Given the description of an element on the screen output the (x, y) to click on. 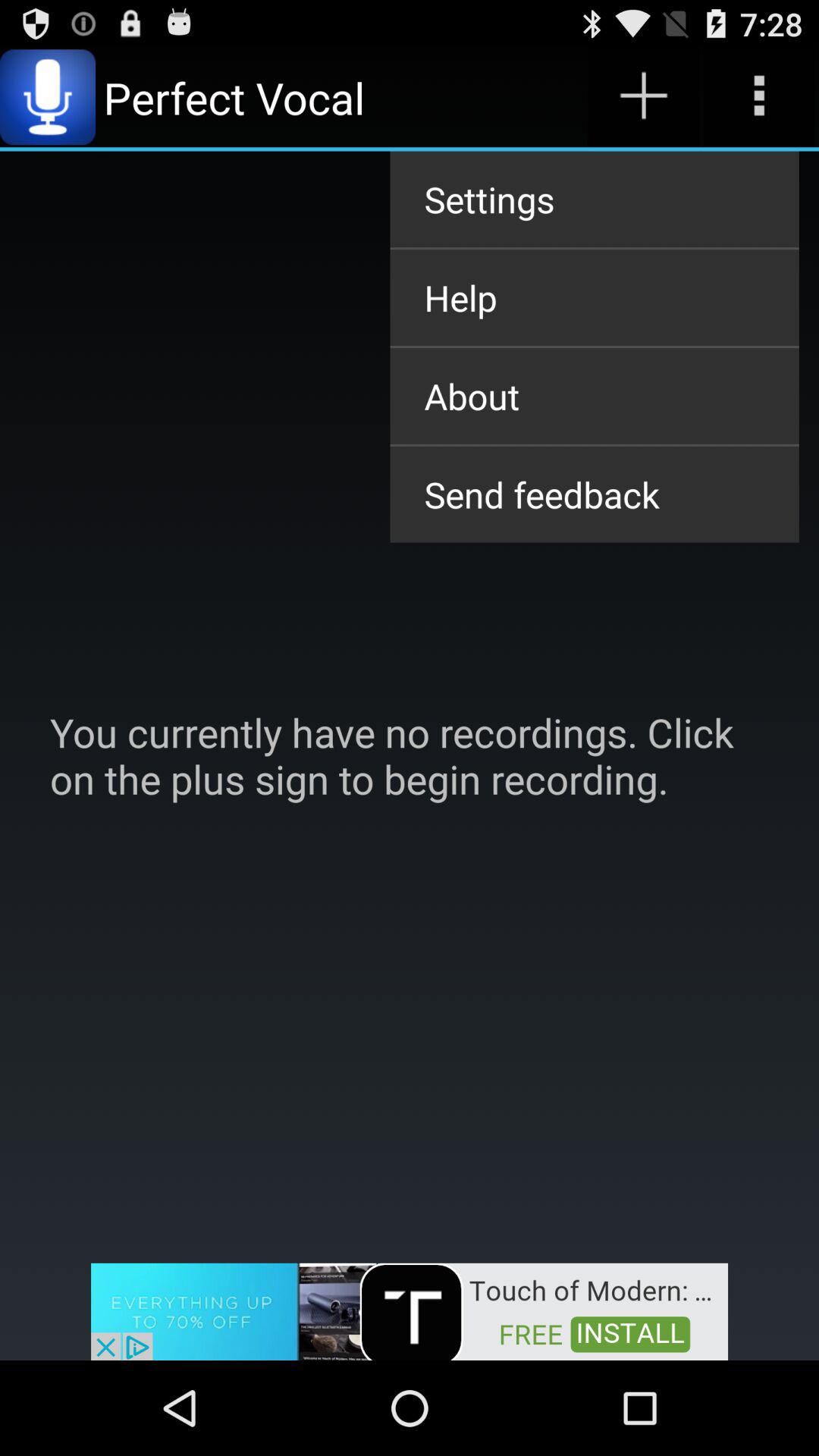
clos e the option (409, 1310)
